Given the description of an element on the screen output the (x, y) to click on. 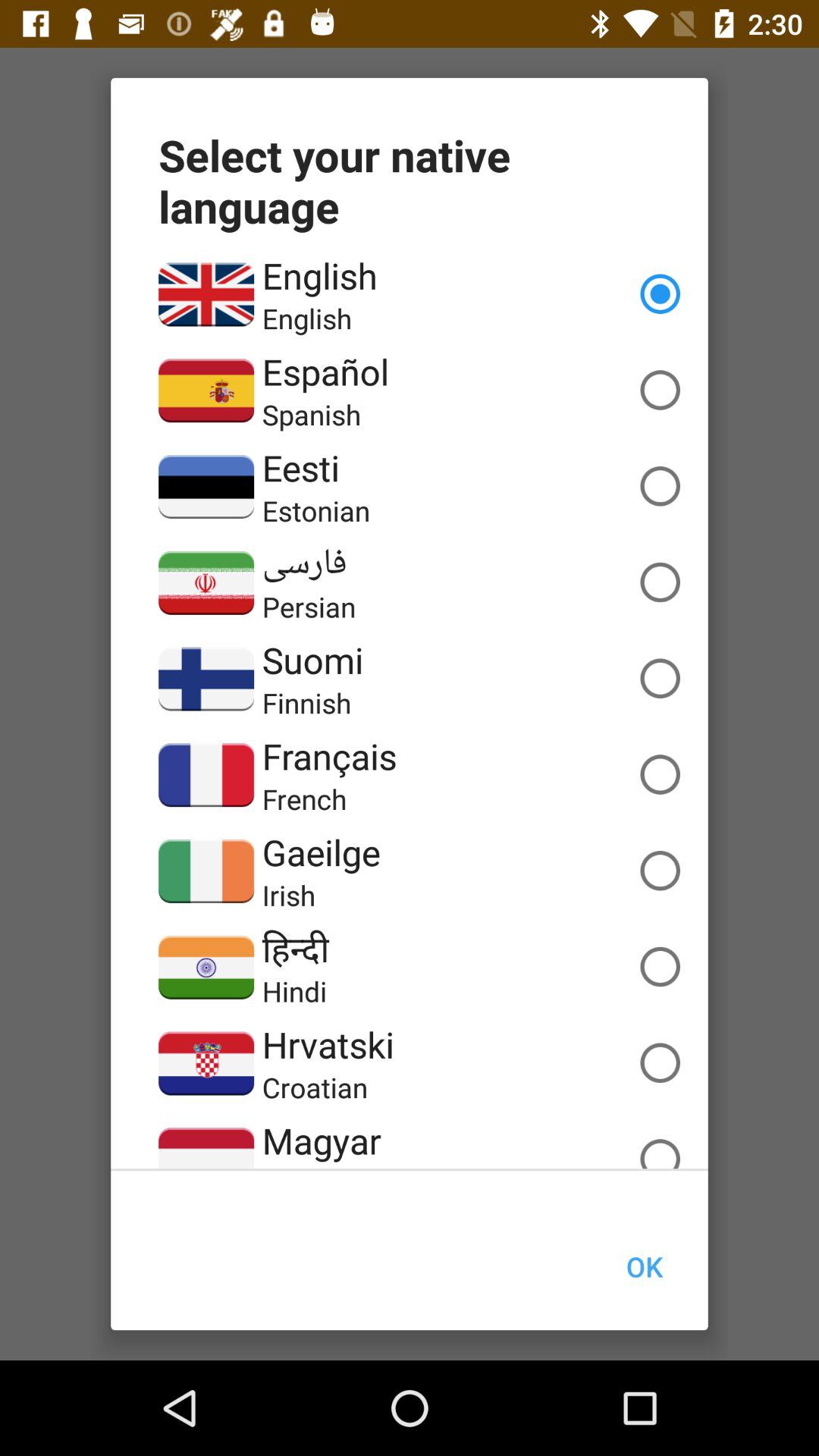
turn off the item below the suomi (306, 702)
